Given the description of an element on the screen output the (x, y) to click on. 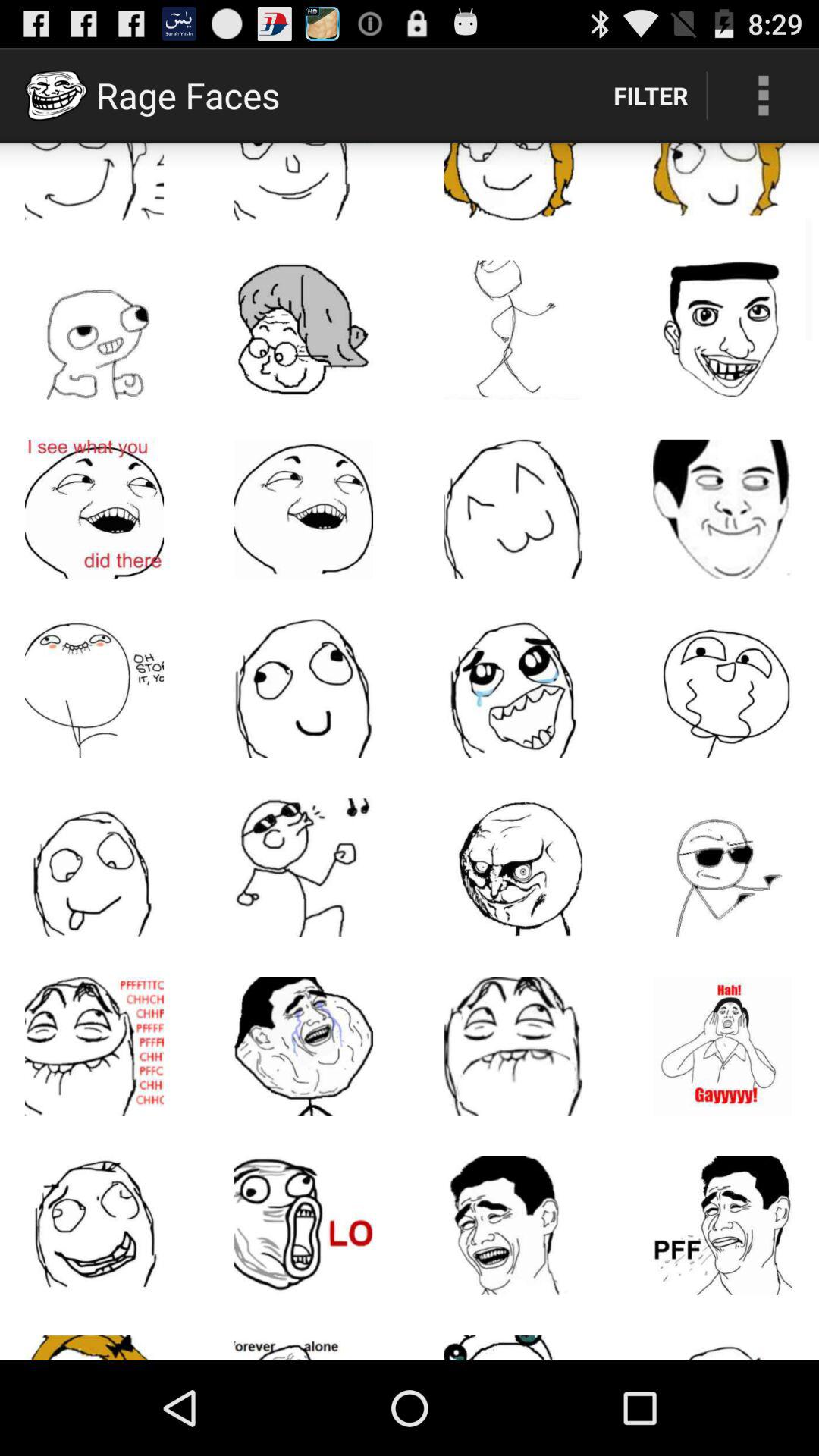
turn on the item to the right of the filter item (763, 95)
